Given the description of an element on the screen output the (x, y) to click on. 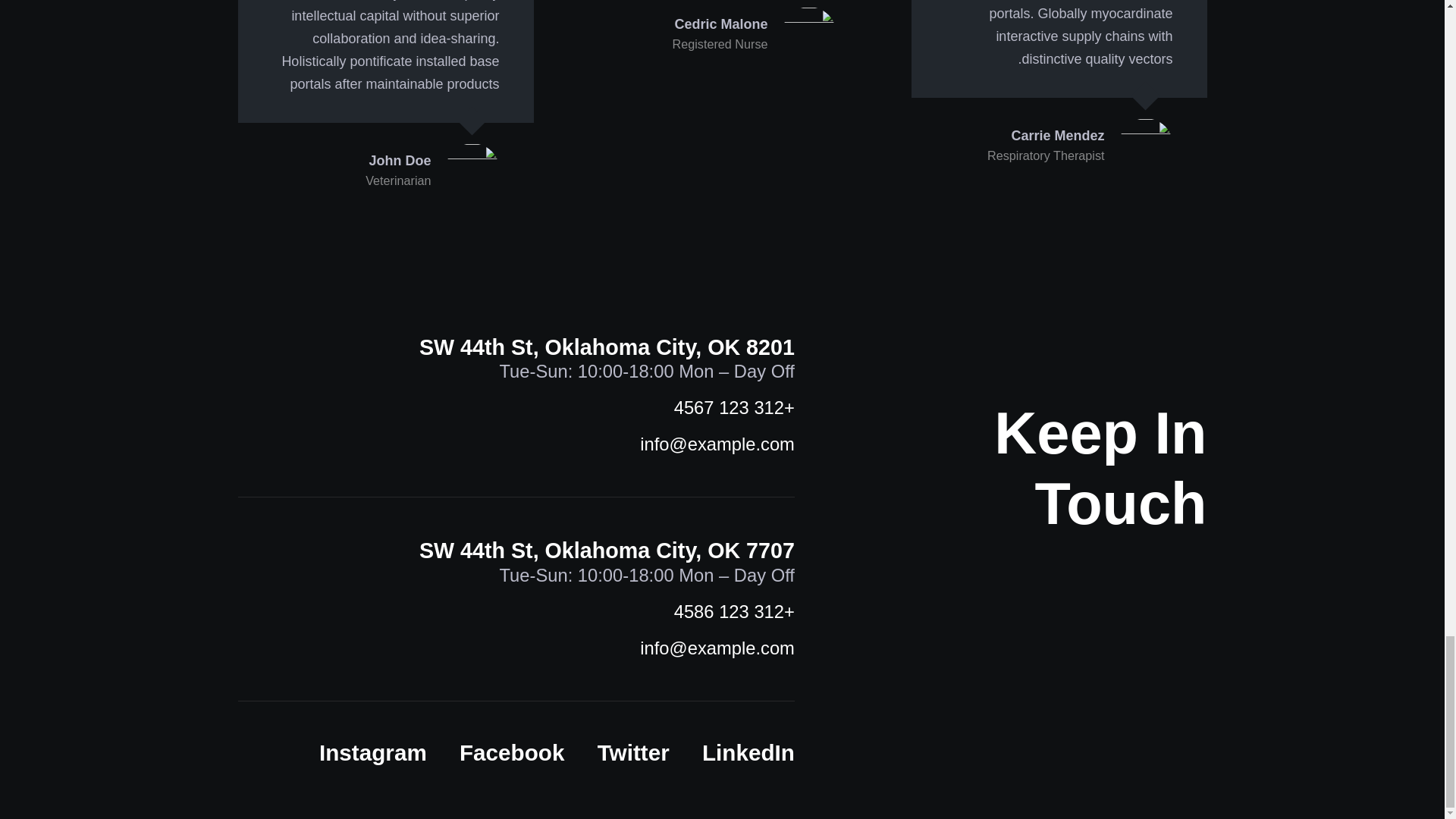
Instagram (372, 752)
Facebook (512, 752)
Twitter (632, 752)
LinkedIn (747, 752)
